Given the description of an element on the screen output the (x, y) to click on. 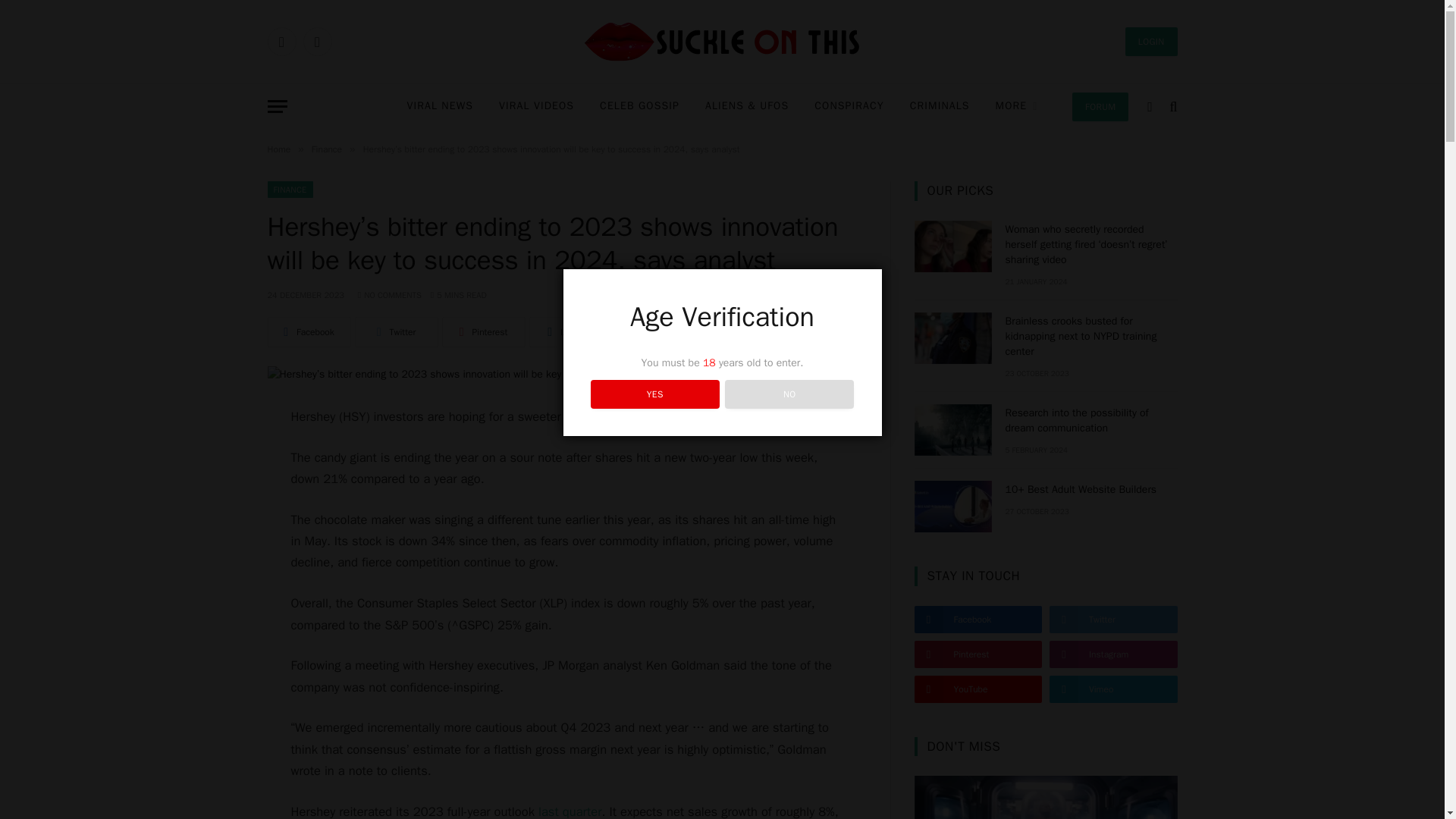
LOGIN (1151, 41)
Share on Facebook (308, 331)
CONSPIRACY (849, 106)
Switch to Dark Design - easier on eyes. (1149, 106)
CELEB GOSSIP (639, 106)
VIRAL NEWS (439, 106)
MORE (1016, 106)
Share on Pinterest (482, 331)
Instagram (316, 41)
suckleonthis.com (721, 41)
CRIMINALS (939, 106)
VIRAL VIDEOS (536, 106)
Share on LinkedIn (570, 331)
Show More Social Sharing (630, 331)
